Given the description of an element on the screen output the (x, y) to click on. 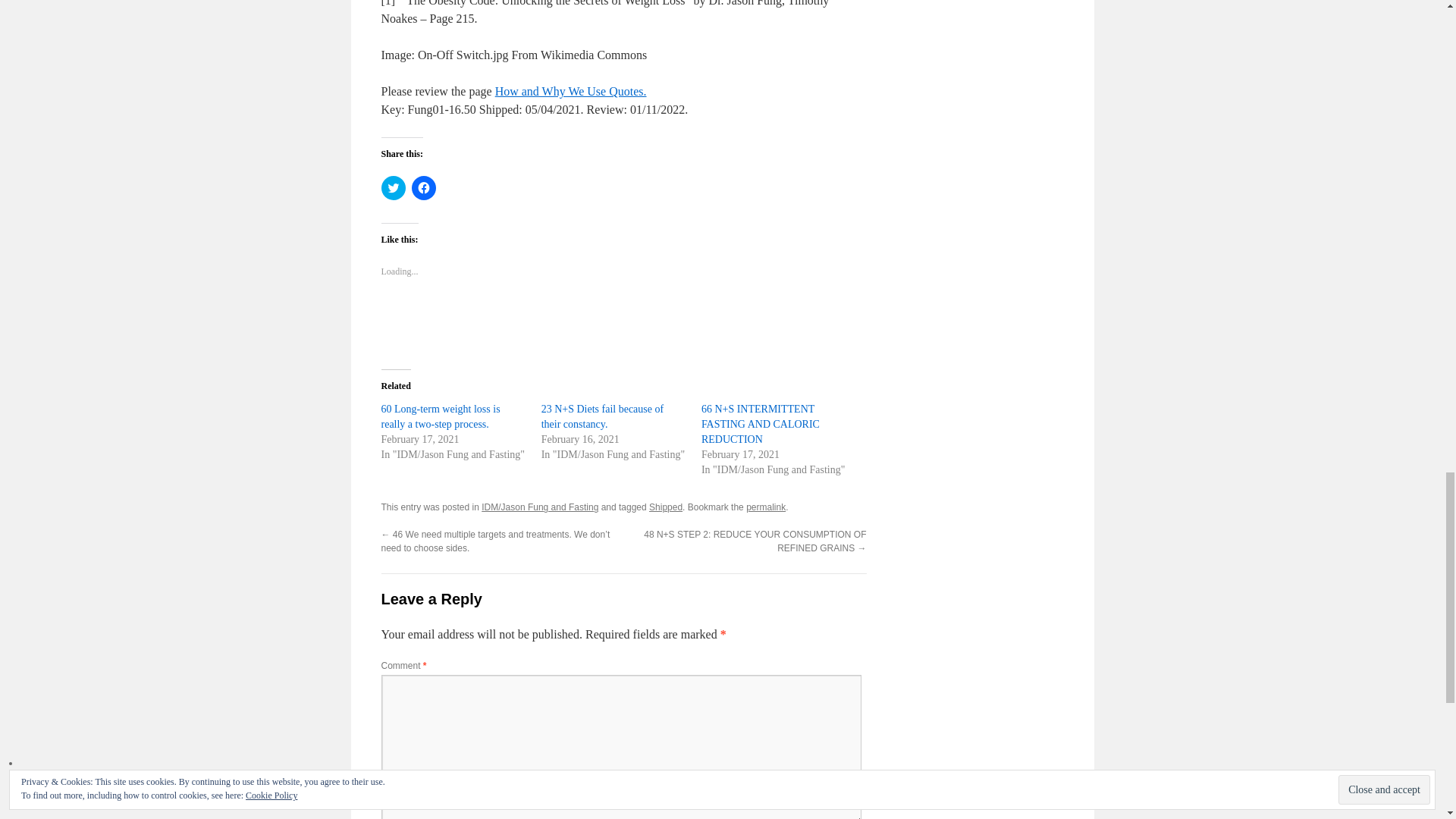
60 Long-term weight loss is really a two-step process. (439, 416)
Click to share on Twitter (392, 187)
60 Long-term weight loss is really a two-step process. (439, 416)
permalink (765, 507)
Like or Reblog (623, 323)
Click to share on Facebook (422, 187)
How and Why We Use Quotes. (570, 91)
Shipped (665, 507)
